Given the description of an element on the screen output the (x, y) to click on. 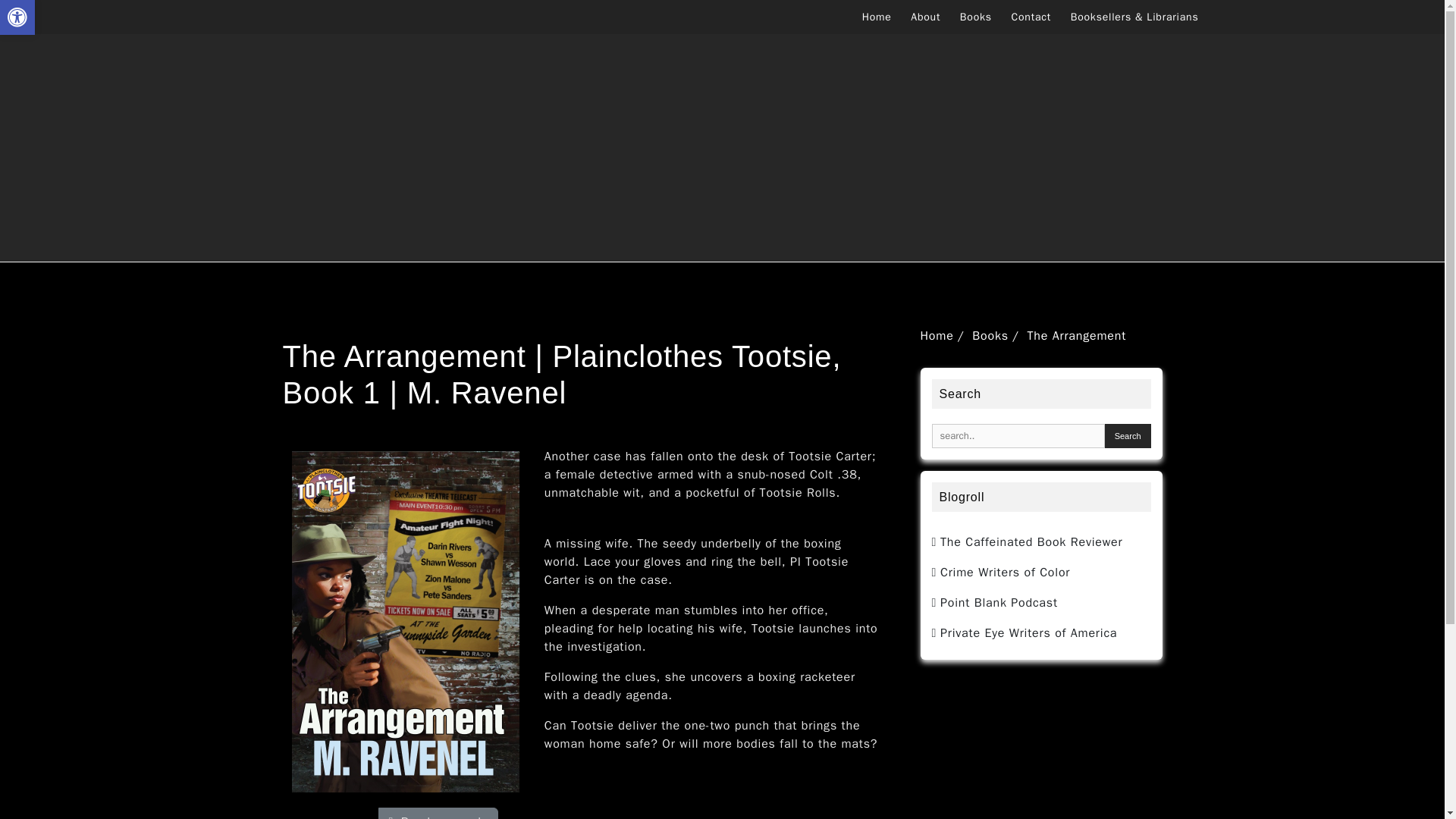
 Crime Writers of Color (1000, 572)
About (933, 17)
Books (989, 335)
Accessibility Tools (17, 17)
Home (936, 335)
 Point Blank Podcast (994, 602)
Search (1128, 435)
 The Caffeinated Book Reviewer (1026, 541)
Home (884, 17)
Home (884, 17)
Books (983, 17)
Search (1128, 435)
Accessibility Tools (17, 17)
